Given the description of an element on the screen output the (x, y) to click on. 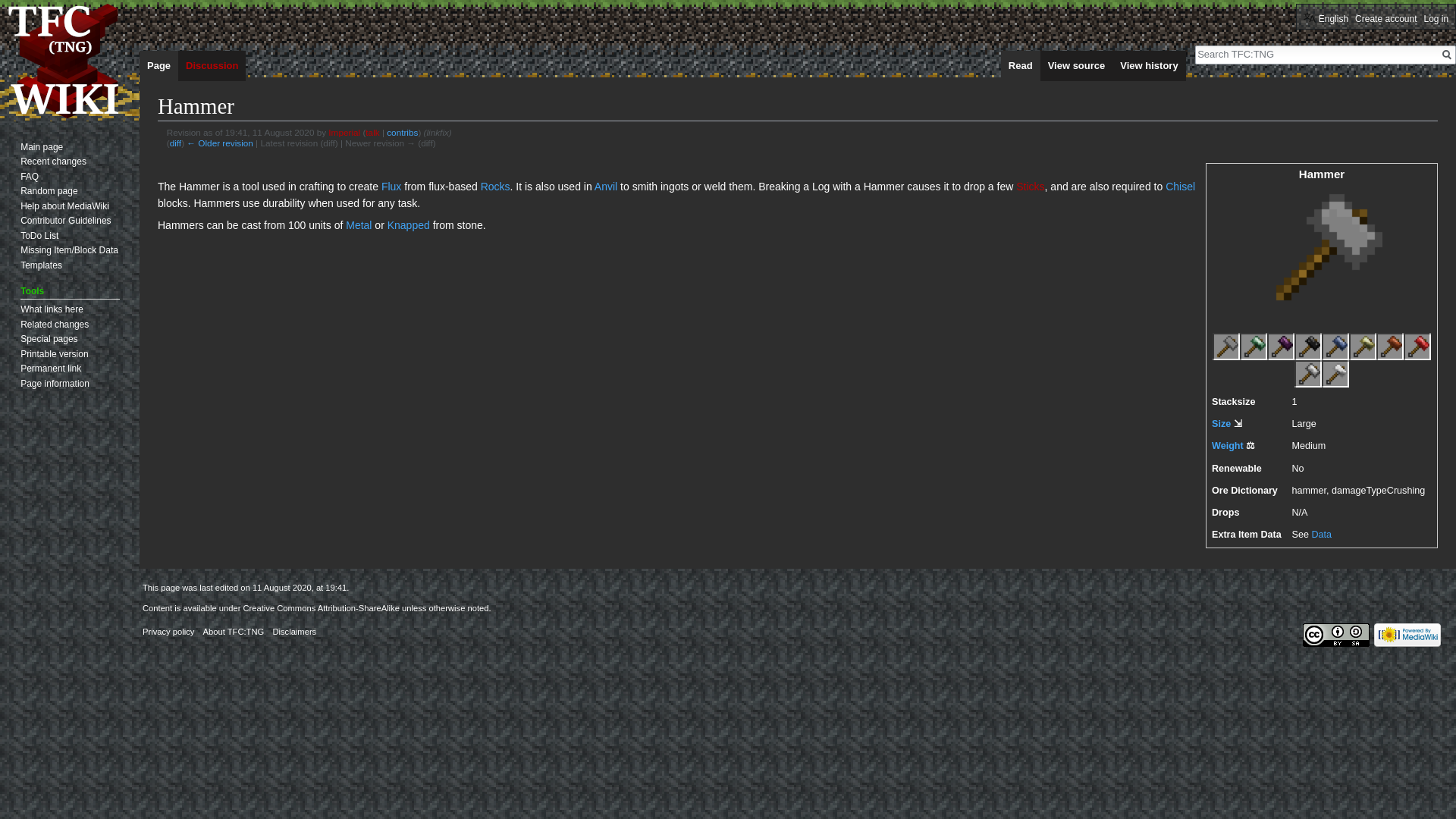
Go (1446, 54)
Knapping (408, 224)
Metals (358, 224)
Rock (495, 186)
Chisel (1180, 186)
Hammer (1321, 534)
Knapped (408, 224)
Sticks (1029, 186)
Flux (391, 186)
Chisel (1180, 186)
Metal (358, 224)
Size (1220, 423)
Weight (1227, 445)
Flux (391, 186)
diff (175, 143)
